Given the description of an element on the screen output the (x, y) to click on. 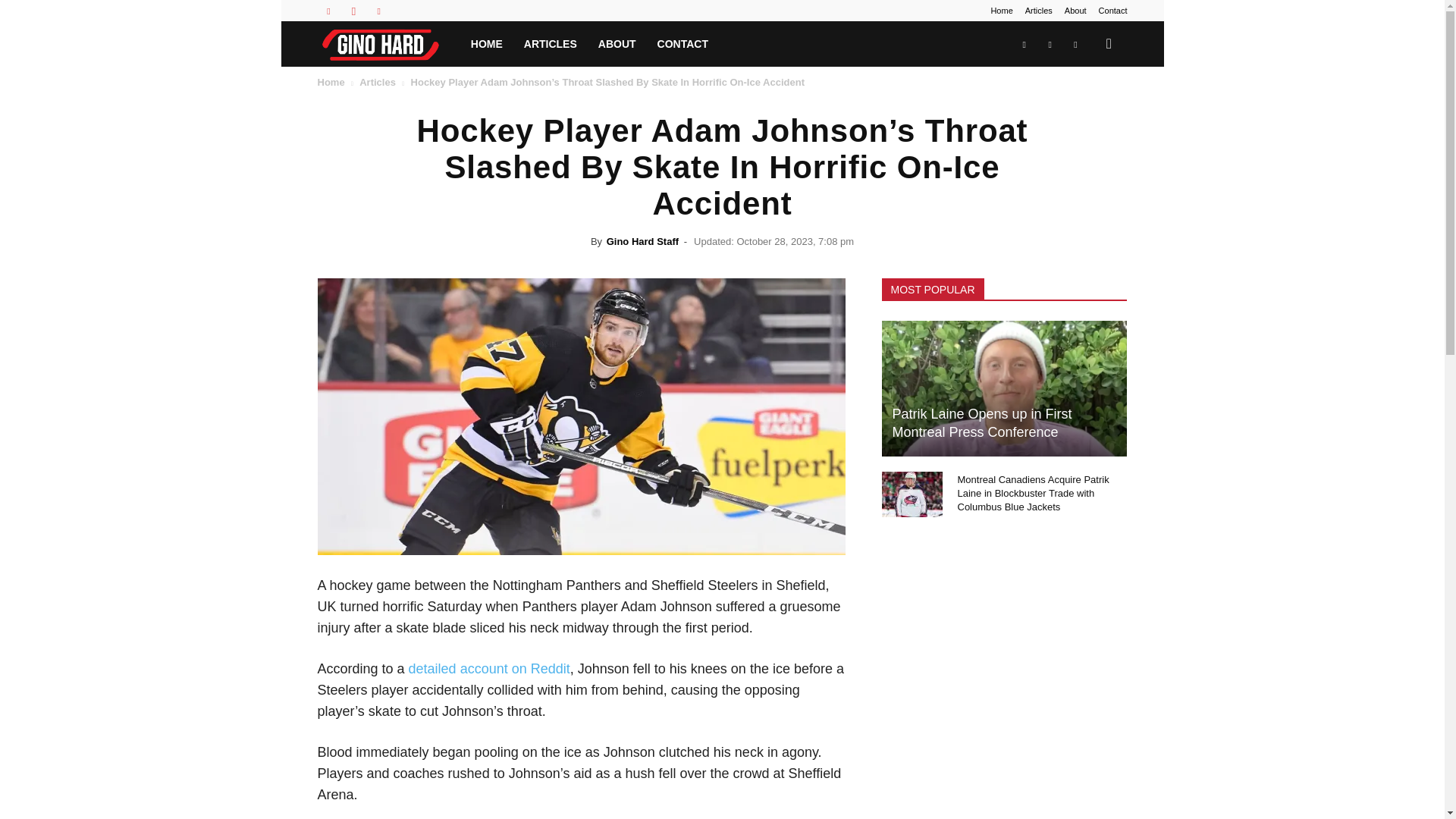
HOME (486, 43)
ABOUT (617, 43)
Patrik Laine Opens up in First Montreal Press Conference (981, 422)
CONTACT (682, 43)
Instagram (353, 10)
Patrik Laine Opens up in First Montreal Press Conference (1003, 388)
Home (330, 81)
Facebook (328, 10)
Twitter (379, 10)
